Given the description of an element on the screen output the (x, y) to click on. 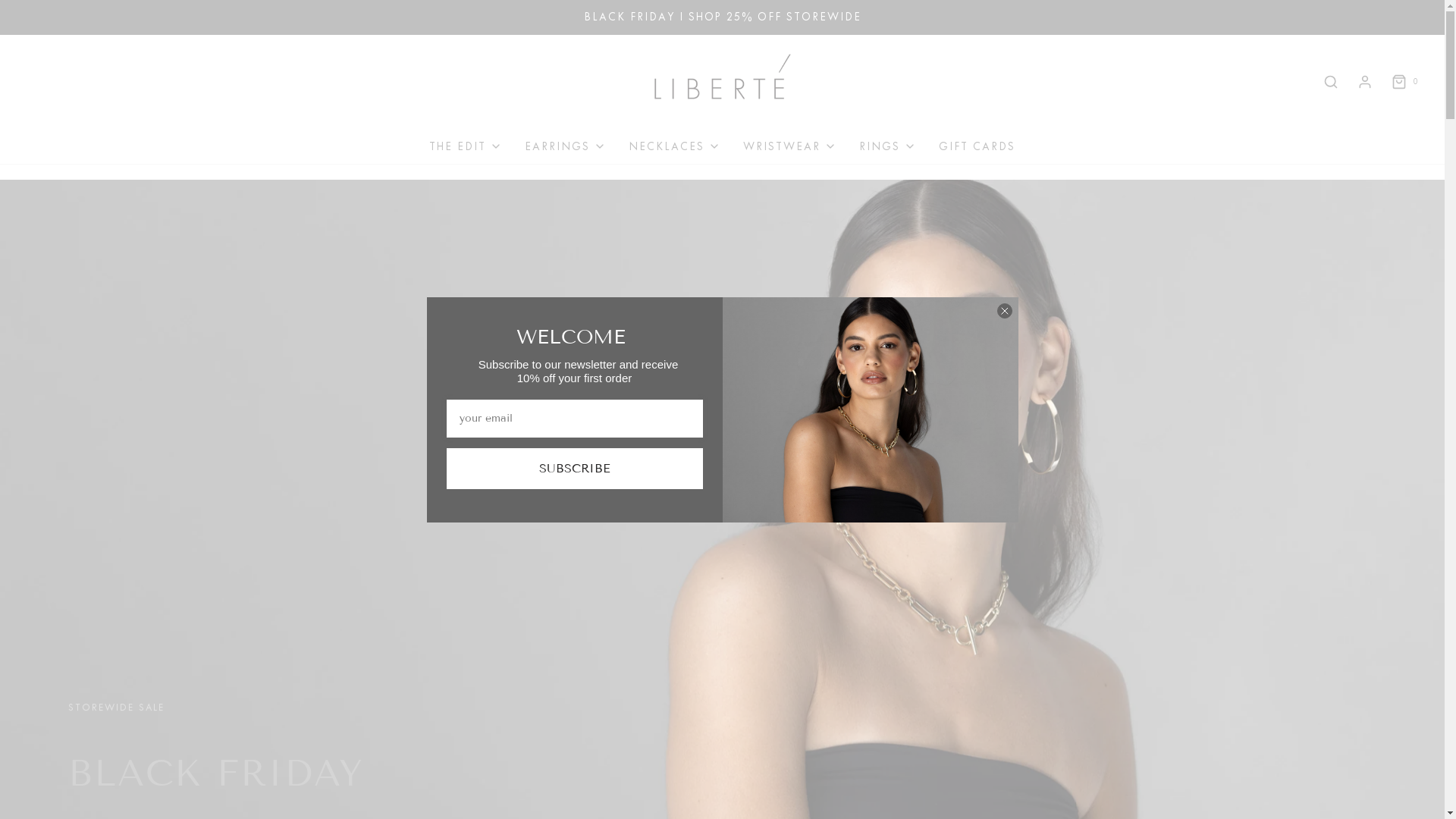
Search Element type: hover (1330, 82)
NECKLACES Element type: text (674, 146)
SUBSCRIBE Element type: text (573, 467)
THE EDIT Element type: text (465, 146)
BLACK FRIDAY I SHOP 25% OFF STOREWIDE Element type: text (722, 16)
0 Element type: text (1403, 82)
ELEVATED STYLE Element type: text (234, 766)
Submit Element type: text (20, 8)
Log in Element type: hover (1364, 81)
EARRINGS Element type: text (564, 146)
RINGS Element type: text (887, 146)
WRISTWEAR Element type: text (789, 146)
GIFT CARDS Element type: text (976, 146)
Join Liberte Element type: hover (869, 409)
